Given the description of an element on the screen output the (x, y) to click on. 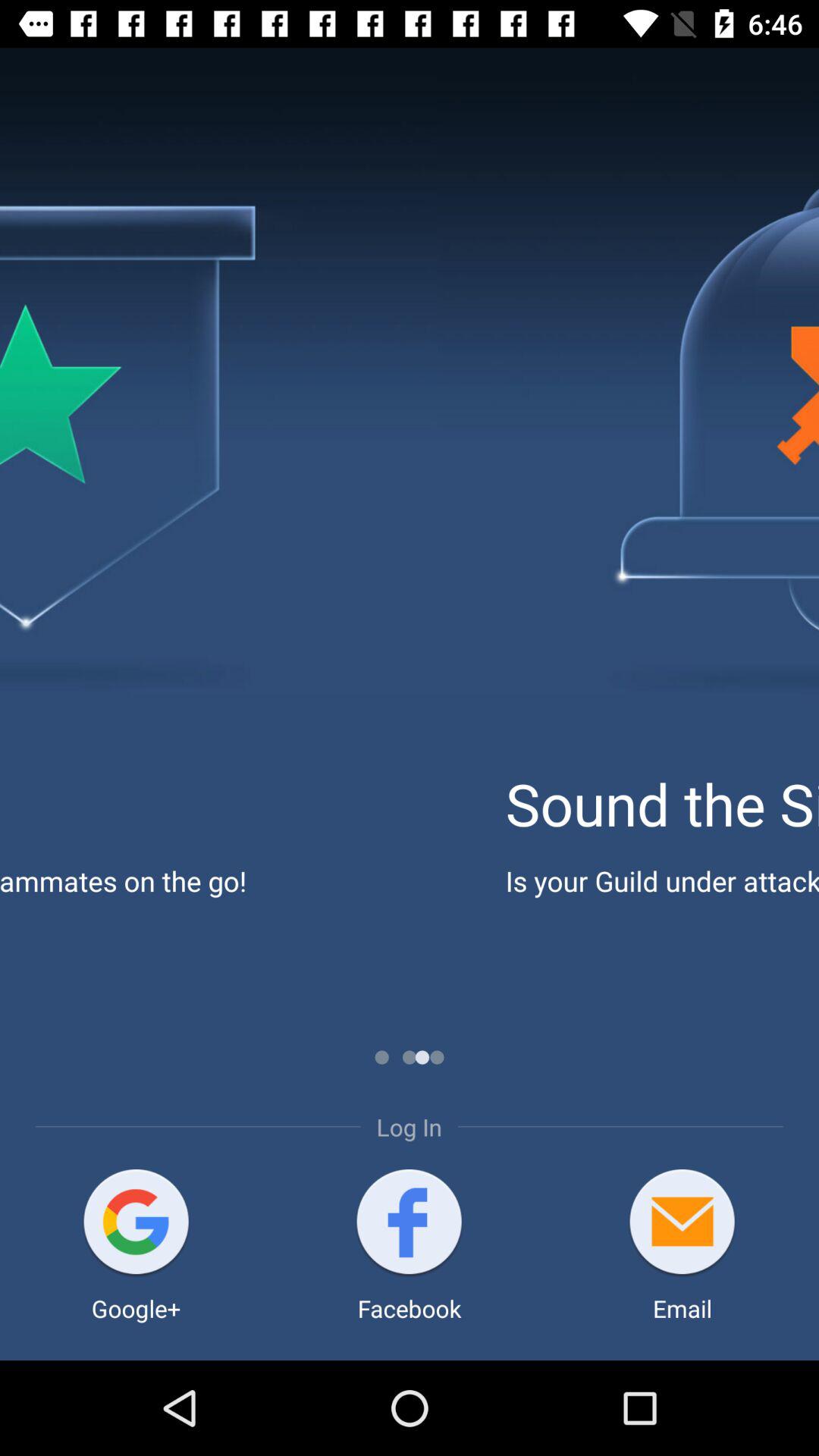
open google plus app (135, 1223)
